Given the description of an element on the screen output the (x, y) to click on. 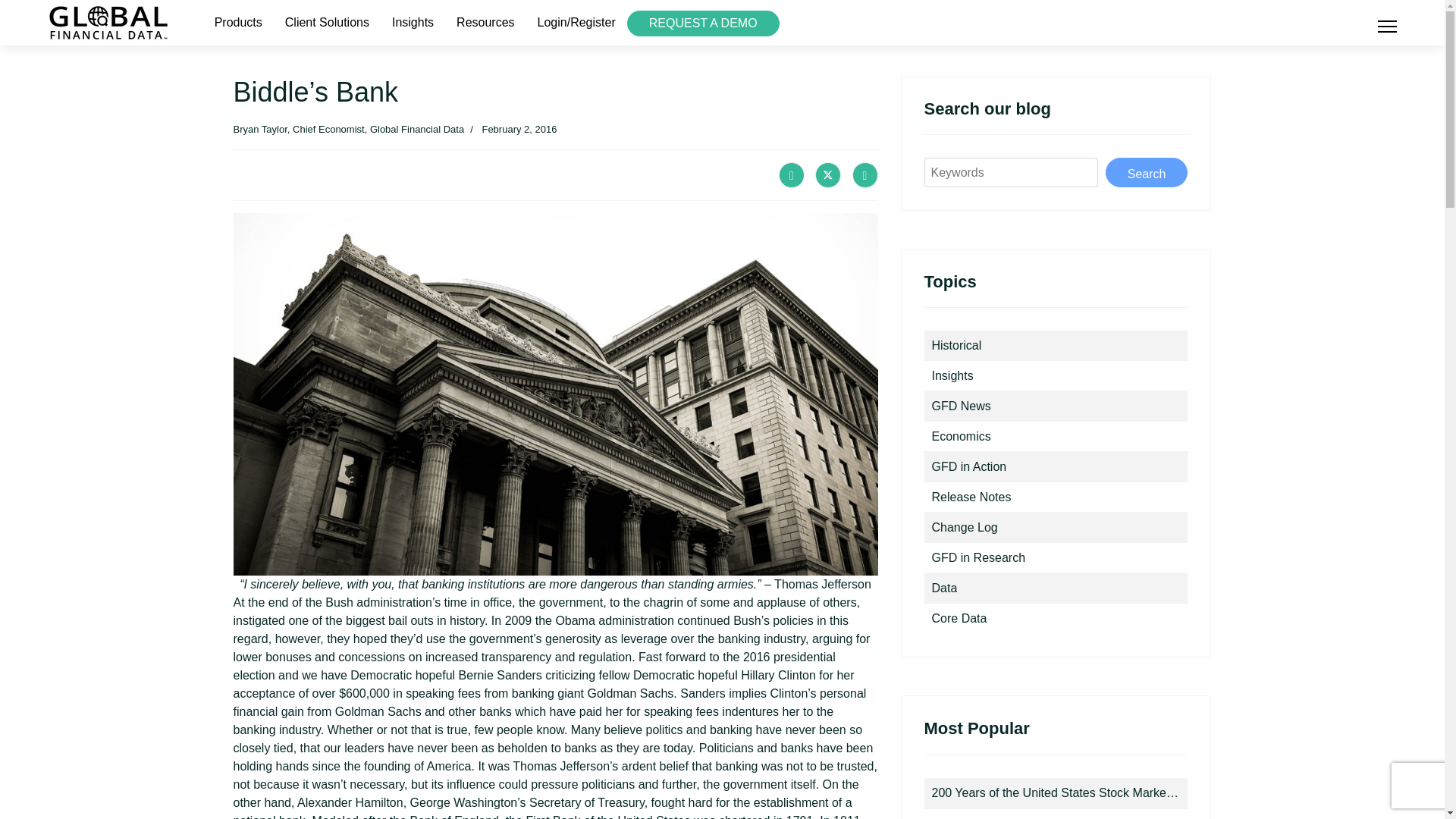
Insights (951, 376)
Search (1146, 172)
Economics (960, 436)
Release Notes (970, 497)
Insights (412, 22)
Historical (956, 345)
GFD in Action (968, 467)
GFD News (960, 406)
Published: February 2, 2016 (510, 129)
